Given the description of an element on the screen output the (x, y) to click on. 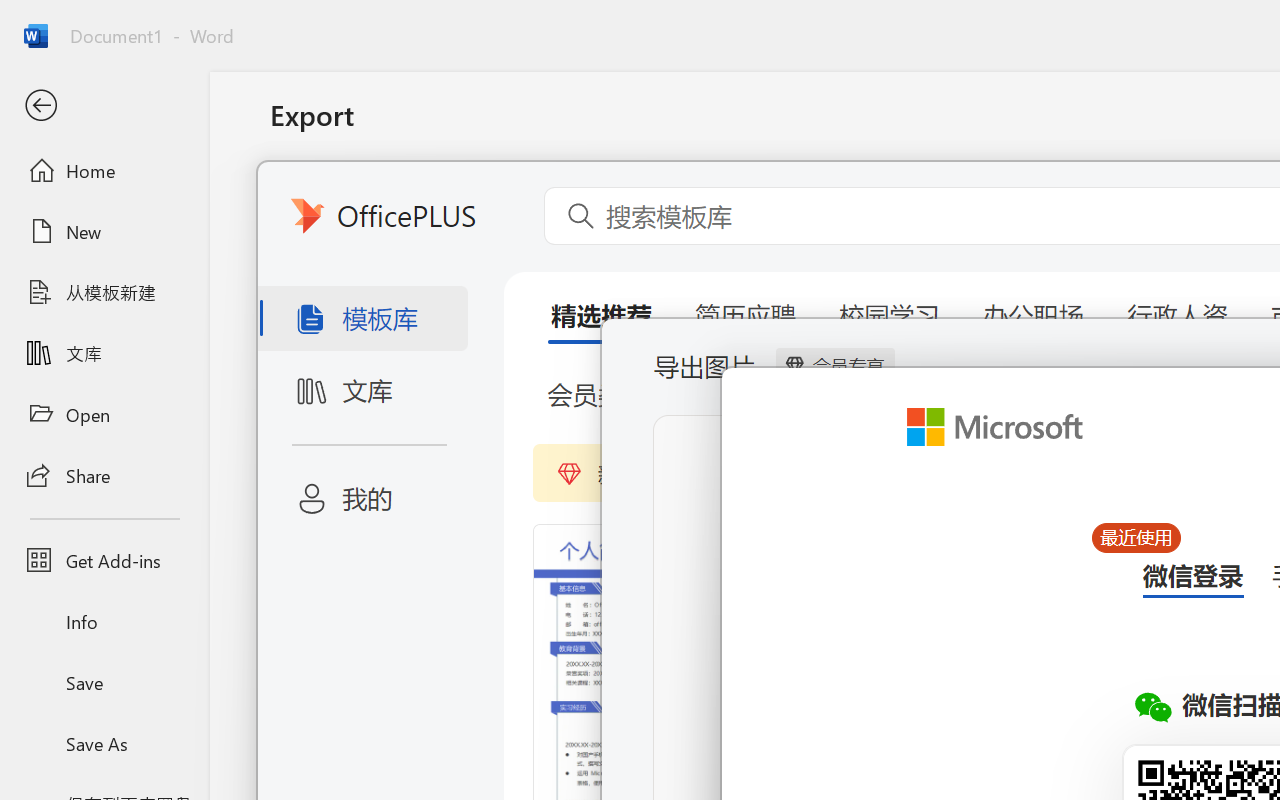
Create PDF/XPS Document (507, 205)
